Given the description of an element on the screen output the (x, y) to click on. 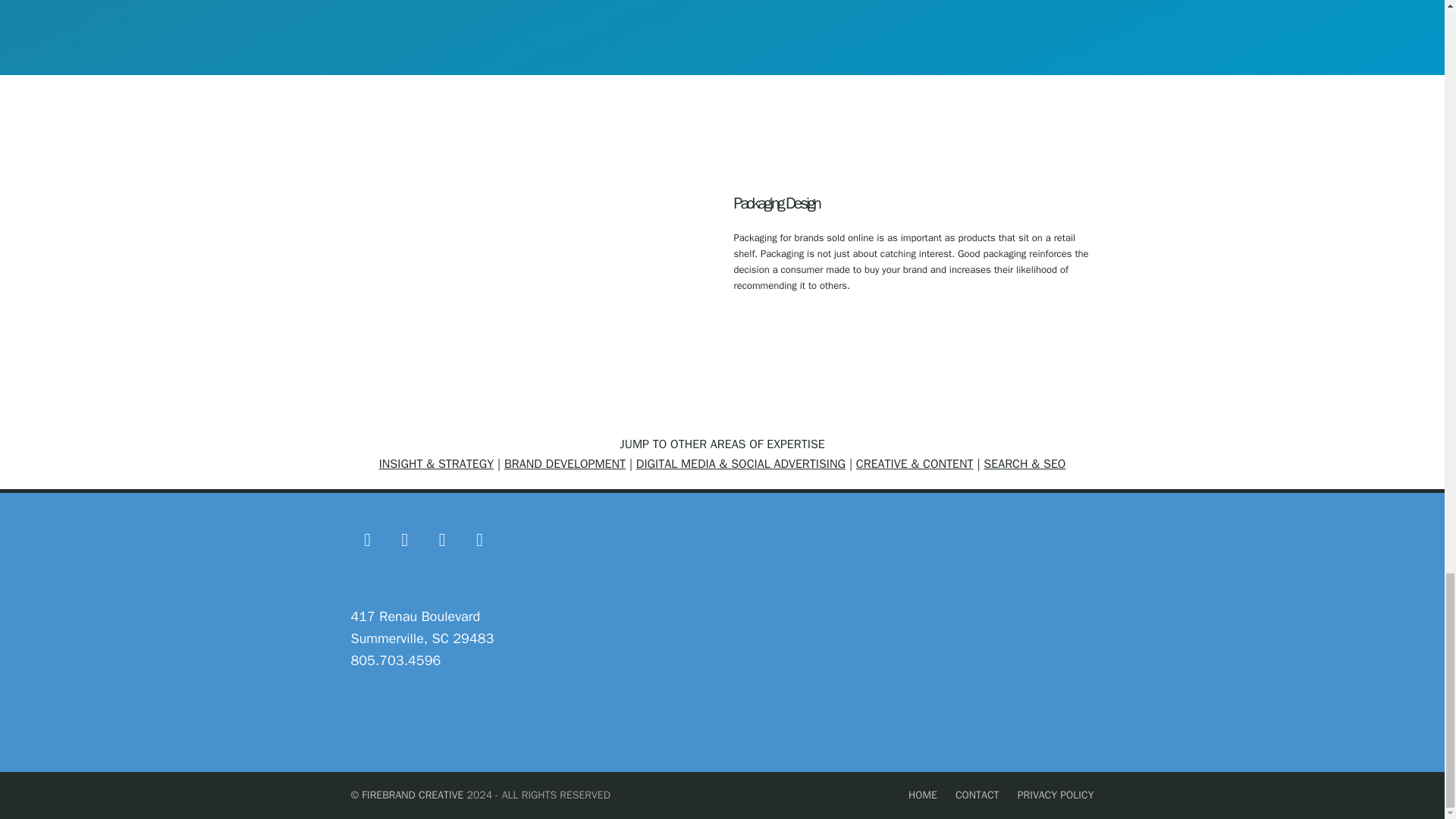
PRIVACY POLICY (1055, 794)
Twitter (367, 539)
FIREBRAND CREATIVE (412, 794)
LinkedIn (479, 539)
HOME (922, 794)
Active-Campaign-Logo-rectangle-white (425, 725)
CONTACT (976, 794)
Facebook (441, 539)
BRAND DEVELOPMENT (564, 463)
LinkedIn (479, 539)
Facebook (441, 539)
Instagram (405, 539)
Twitter (367, 539)
Packaging (530, 263)
Instagram (405, 539)
